Given the description of an element on the screen output the (x, y) to click on. 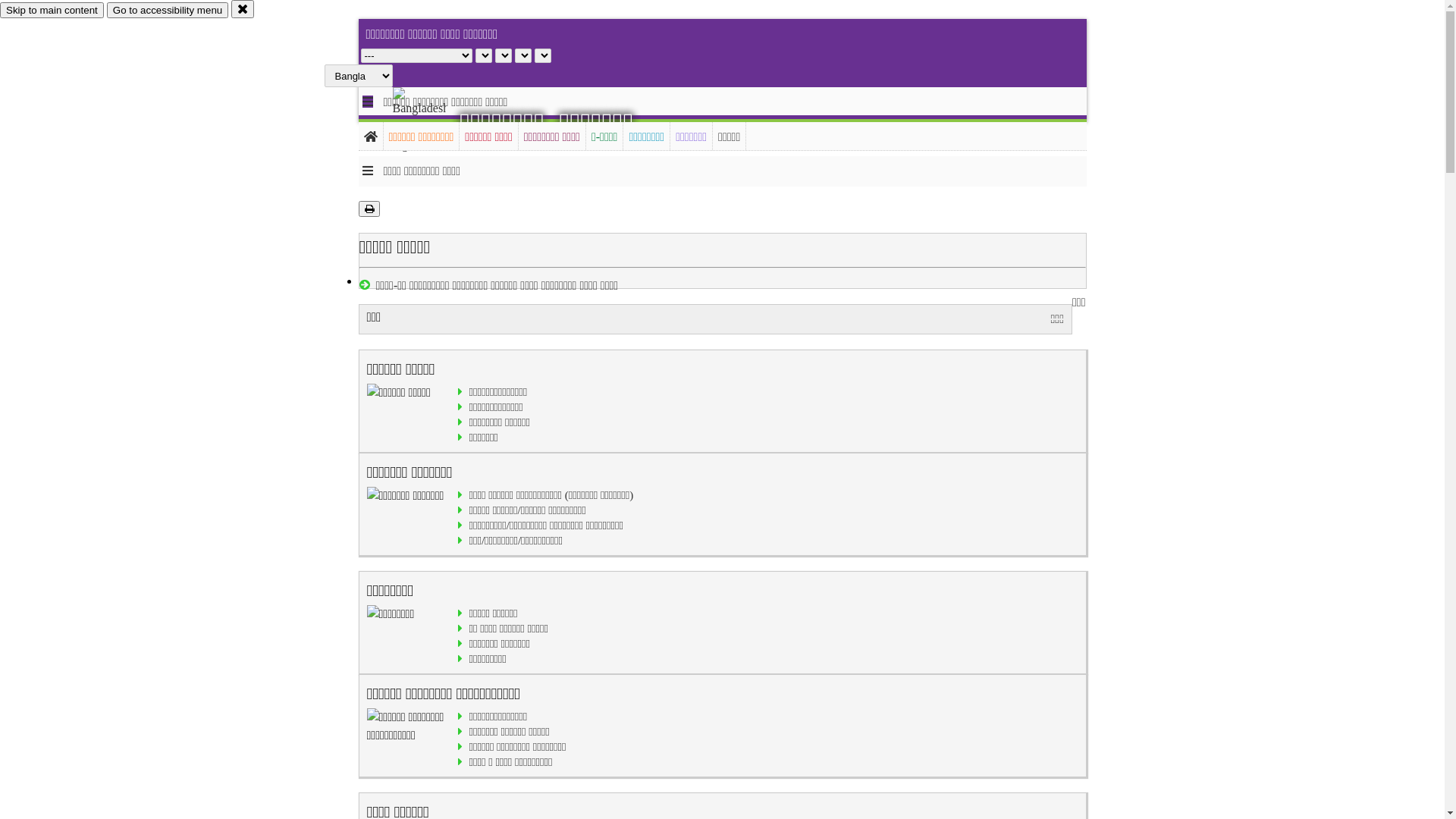
Skip to main content Element type: text (51, 10)
Go to accessibility menu Element type: text (167, 10)

                
             Element type: hover (431, 120)
close Element type: hover (242, 9)
